Given the description of an element on the screen output the (x, y) to click on. 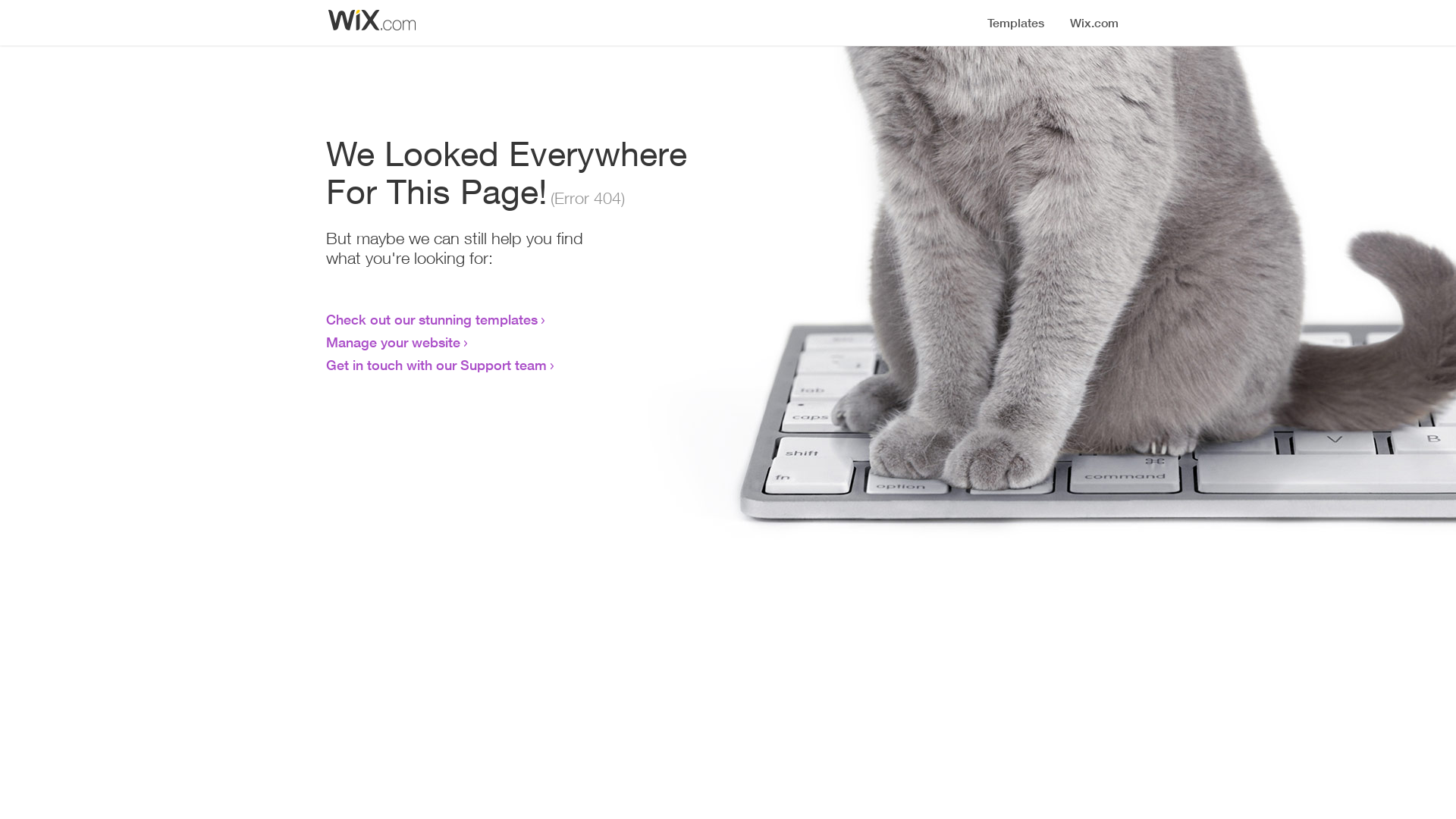
Check out our stunning templates Element type: text (431, 318)
Manage your website Element type: text (393, 341)
Get in touch with our Support team Element type: text (436, 364)
